Given the description of an element on the screen output the (x, y) to click on. 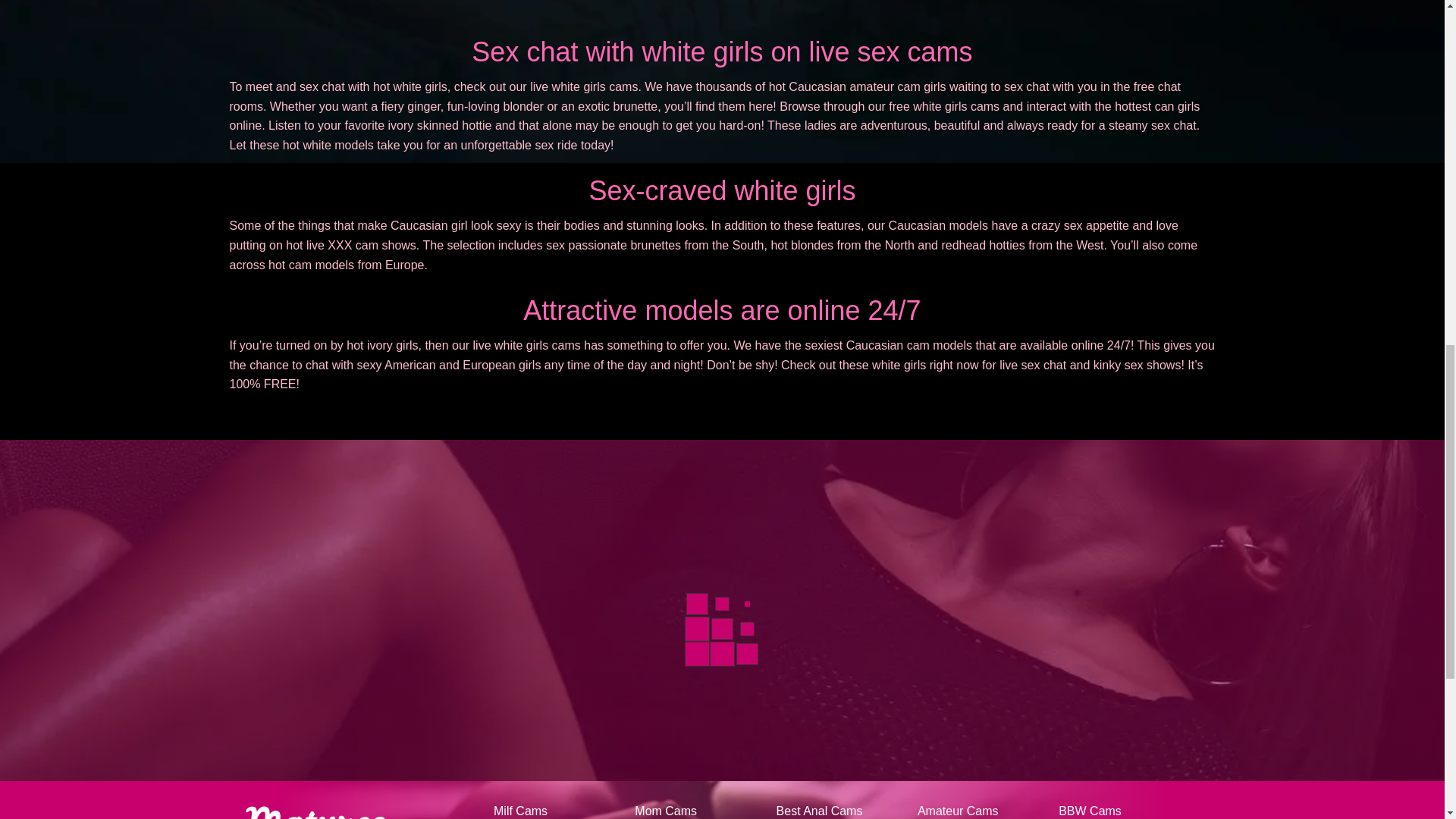
BBW Cams (1089, 811)
Milf Cams (520, 811)
Mom Cams (665, 811)
Amateur Cams (957, 811)
Best Anal Cams (819, 811)
